Given the description of an element on the screen output the (x, y) to click on. 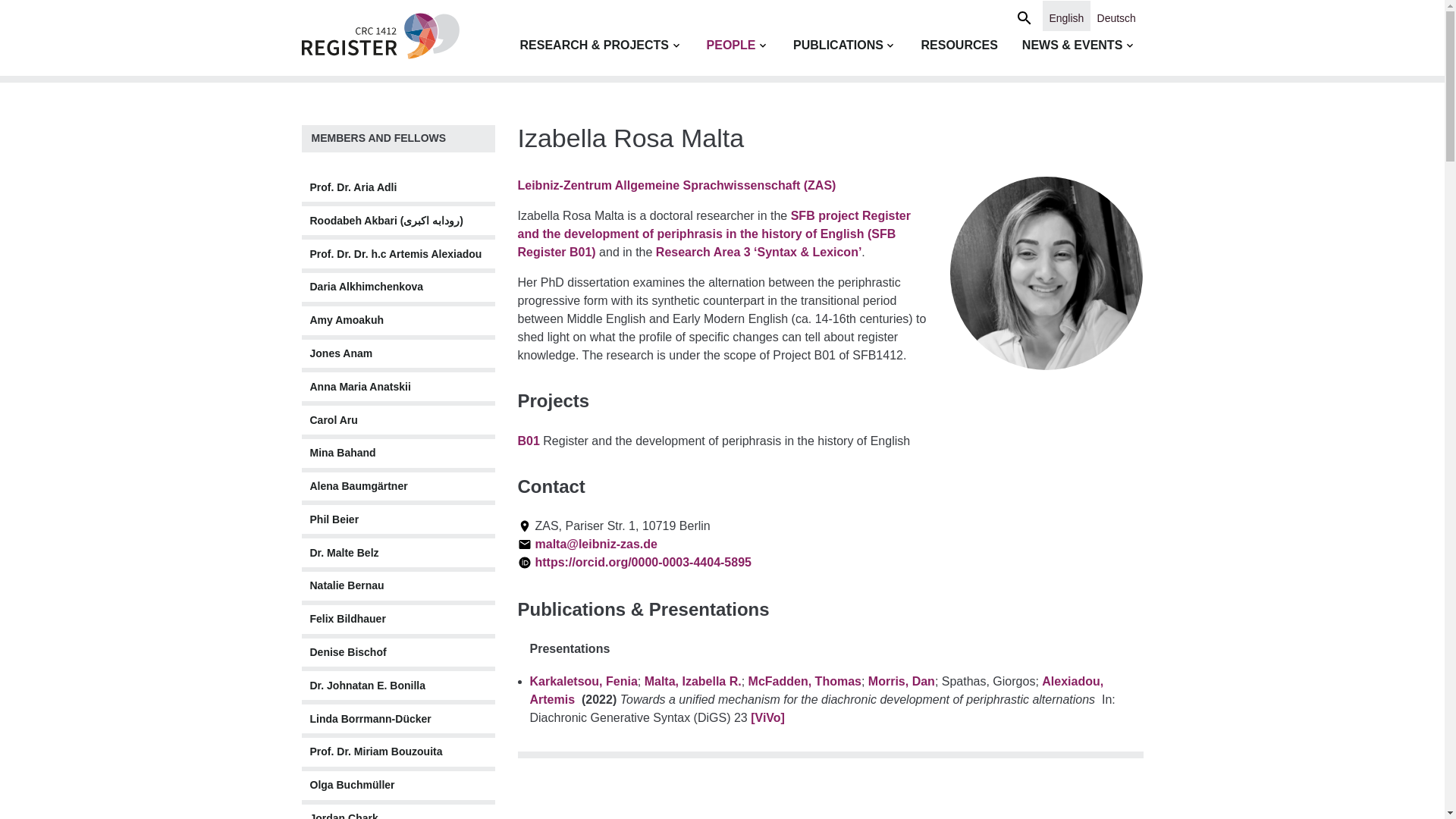
Submit (1039, 15)
MEMBERS AND FELLOWS (378, 137)
Natalie Bernau (398, 585)
Phil Beier (398, 519)
Prof. Dr. Dr. h.c Artemis Alexiadou (398, 253)
PUBLICATIONS (838, 45)
Prof. Dr. Aria Adli (398, 187)
Felix Bildhauer (398, 619)
Amy Amoakuh (398, 320)
Amy Amoakuh (398, 320)
Jones Anam (398, 353)
Carol Aru (398, 419)
Prof. Dr. Aria Adli (398, 187)
Deutsch (1116, 17)
Anna Maria Anatskii (398, 386)
